Given the description of an element on the screen output the (x, y) to click on. 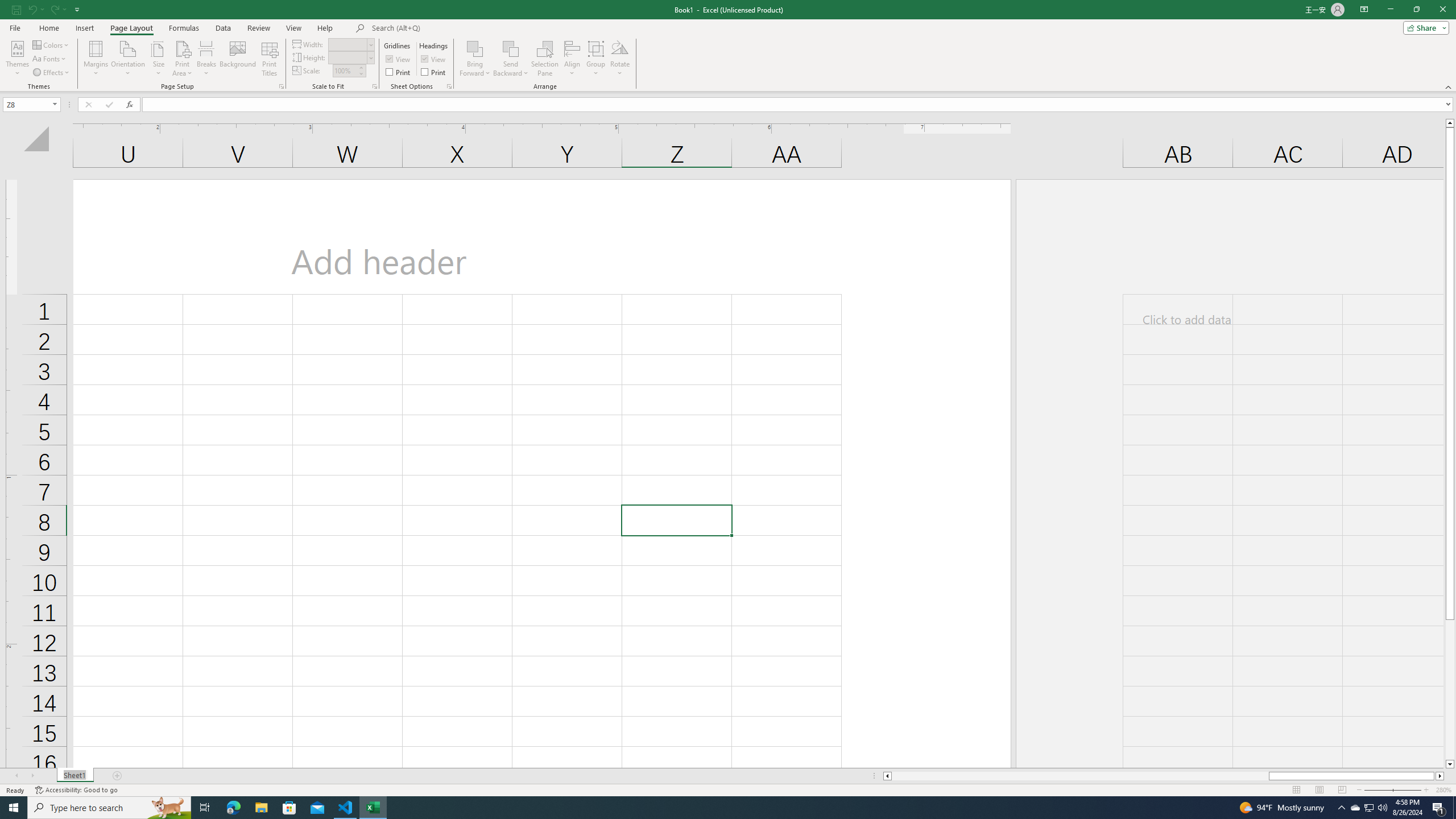
Height (350, 56)
Breaks (206, 58)
Bring Forward (475, 48)
Width (347, 44)
Margins (95, 58)
Fonts (49, 58)
